Given the description of an element on the screen output the (x, y) to click on. 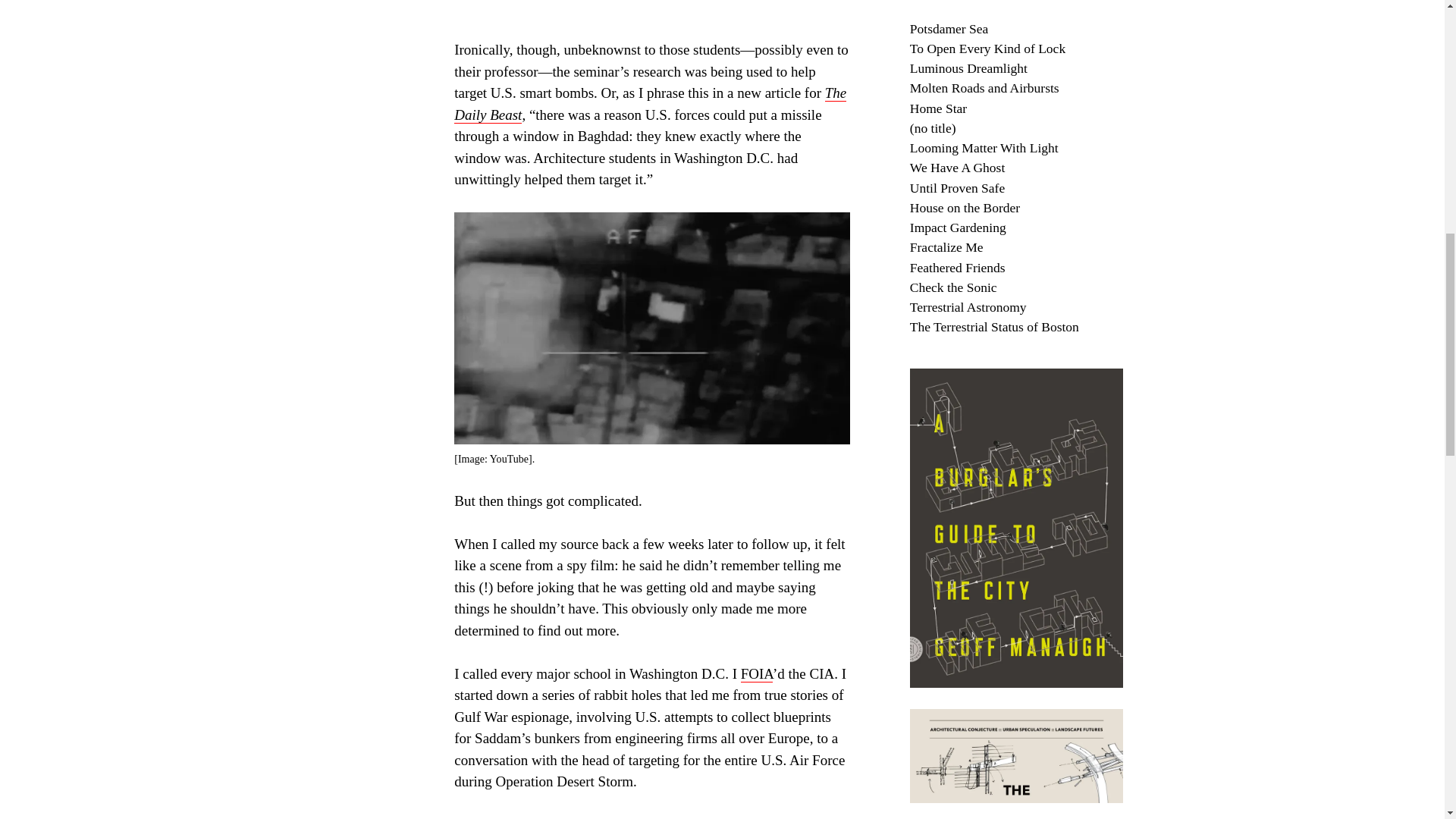
The Daily Beast (649, 104)
FOIA (757, 673)
